Given the description of an element on the screen output the (x, y) to click on. 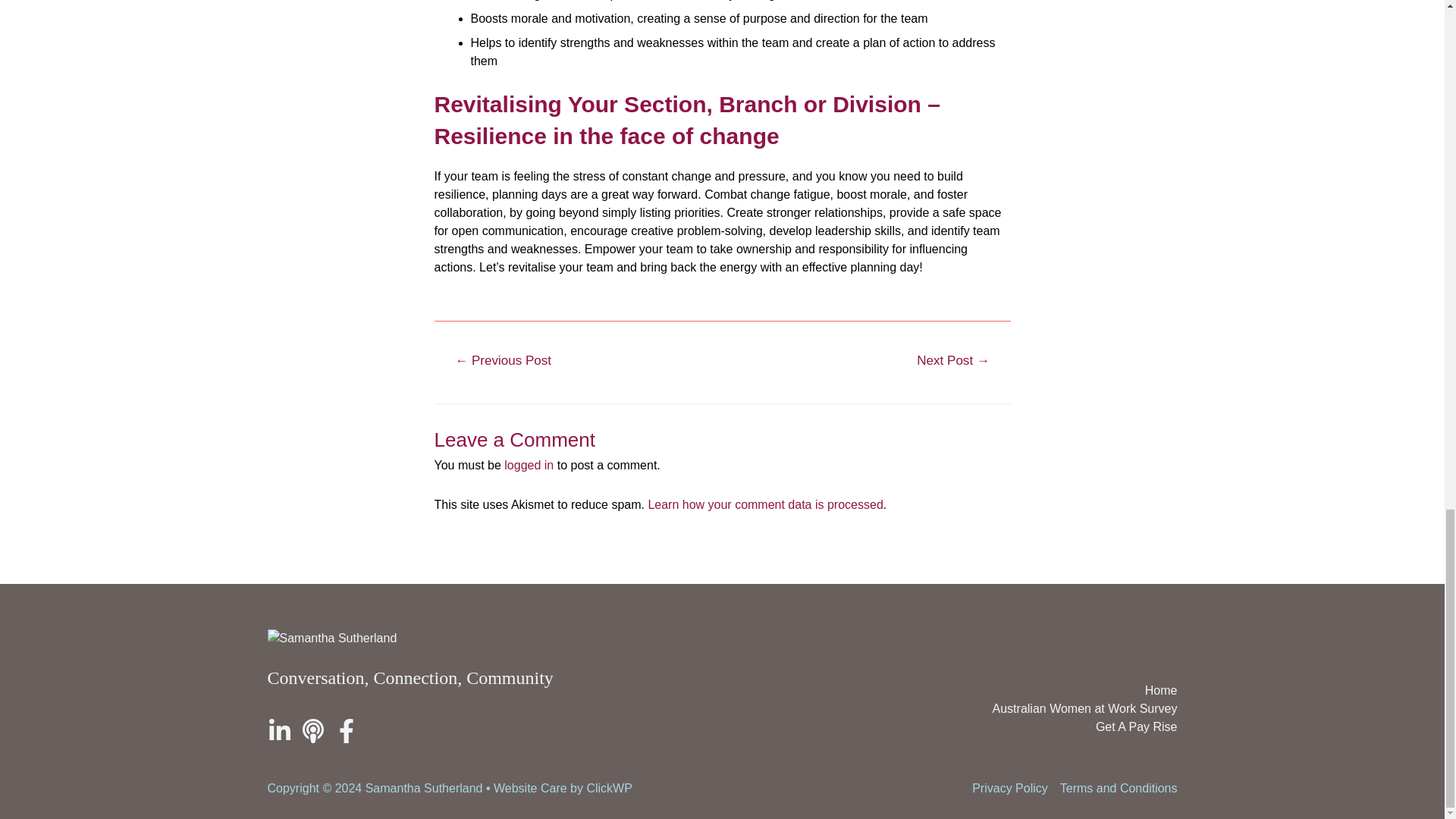
logged in (528, 464)
Learn how your comment data is processed (764, 504)
Are you all trying to solve the same problem? (502, 362)
Time for yourself and the second shift (953, 362)
